Given the description of an element on the screen output the (x, y) to click on. 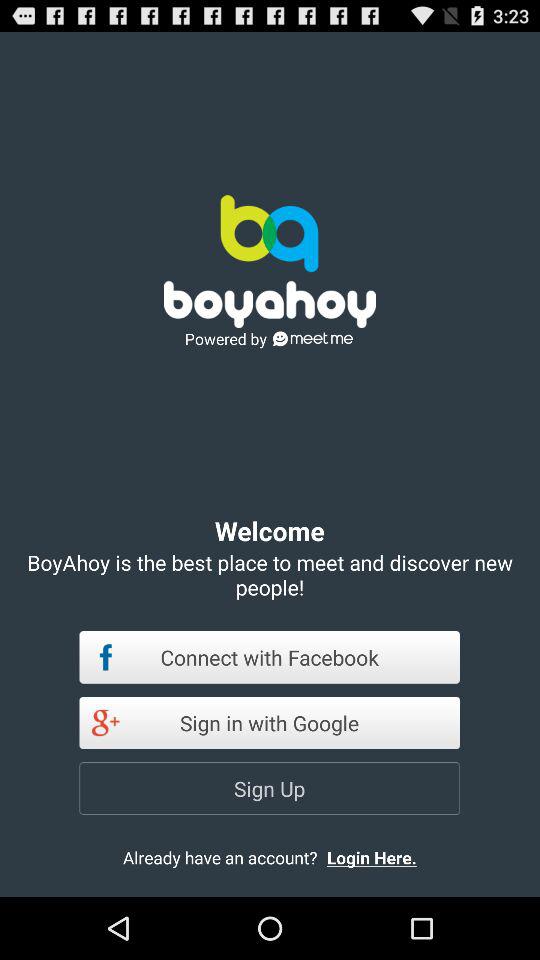
choose the icon below boyahoy is the app (269, 657)
